Given the description of an element on the screen output the (x, y) to click on. 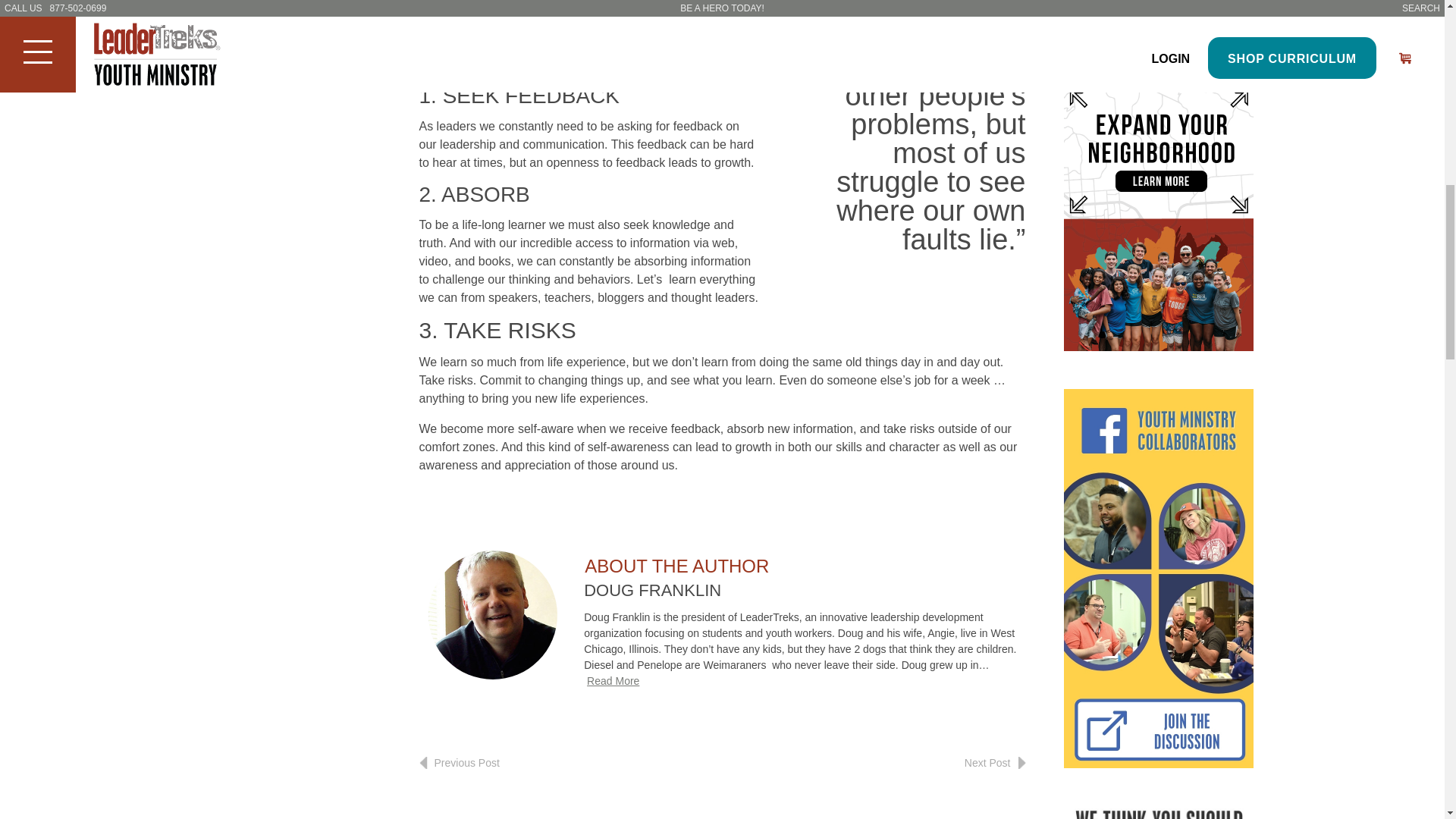
Previous Post (459, 762)
Read More (612, 680)
Next Post (994, 762)
